Given the description of an element on the screen output the (x, y) to click on. 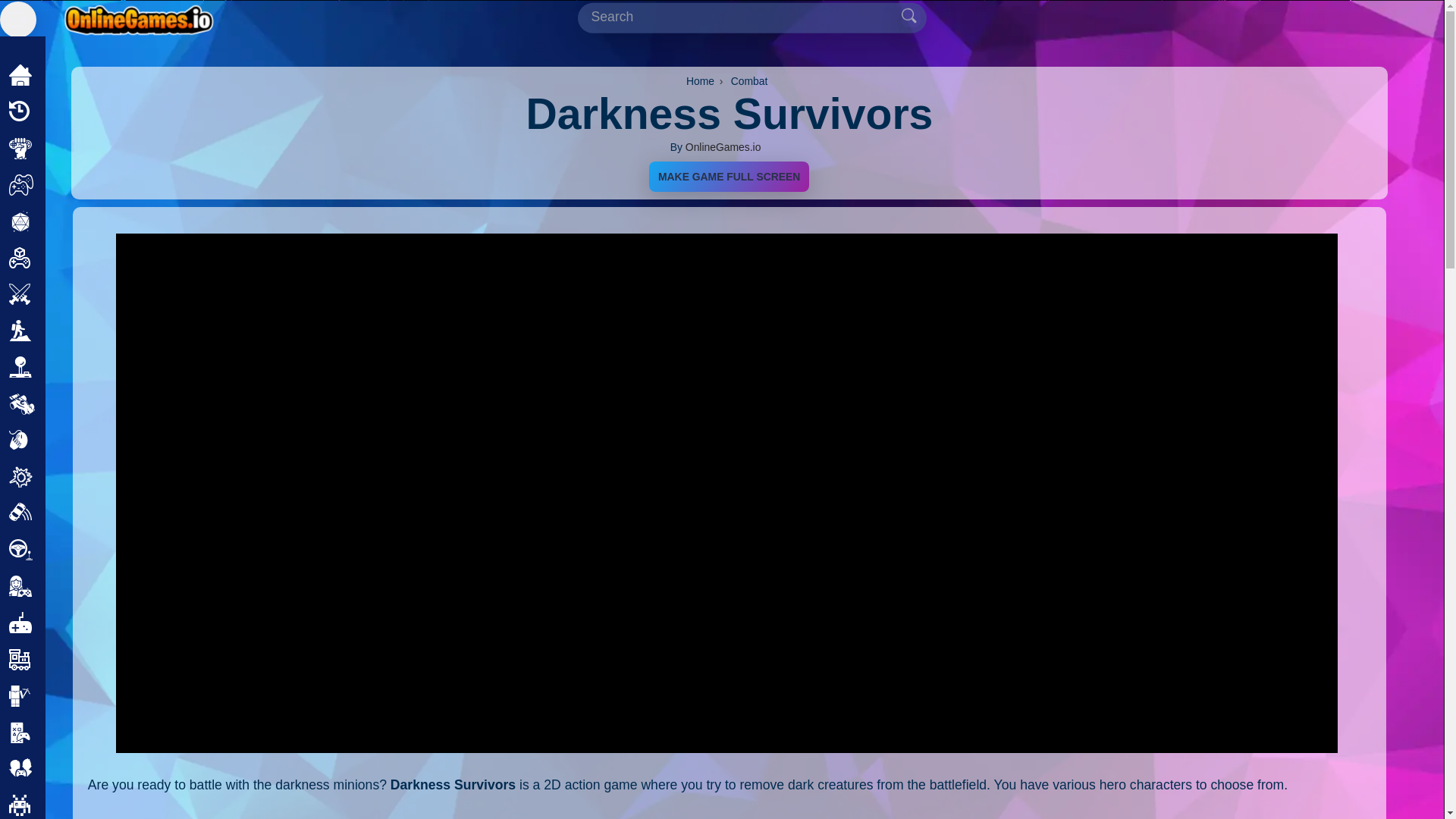
Kids (57, 658)
Car (55, 402)
3D (53, 257)
2D (53, 221)
MAKE GAME FULL SCREEN (729, 176)
OnlineGames.io (723, 146)
Multiplayer (77, 769)
Home (62, 74)
2 Player (69, 185)
Driving (65, 549)
Combat (751, 80)
OnlineGames.io (723, 146)
.io Games (75, 622)
Arcade (66, 366)
Home (702, 80)
